Given the description of an element on the screen output the (x, y) to click on. 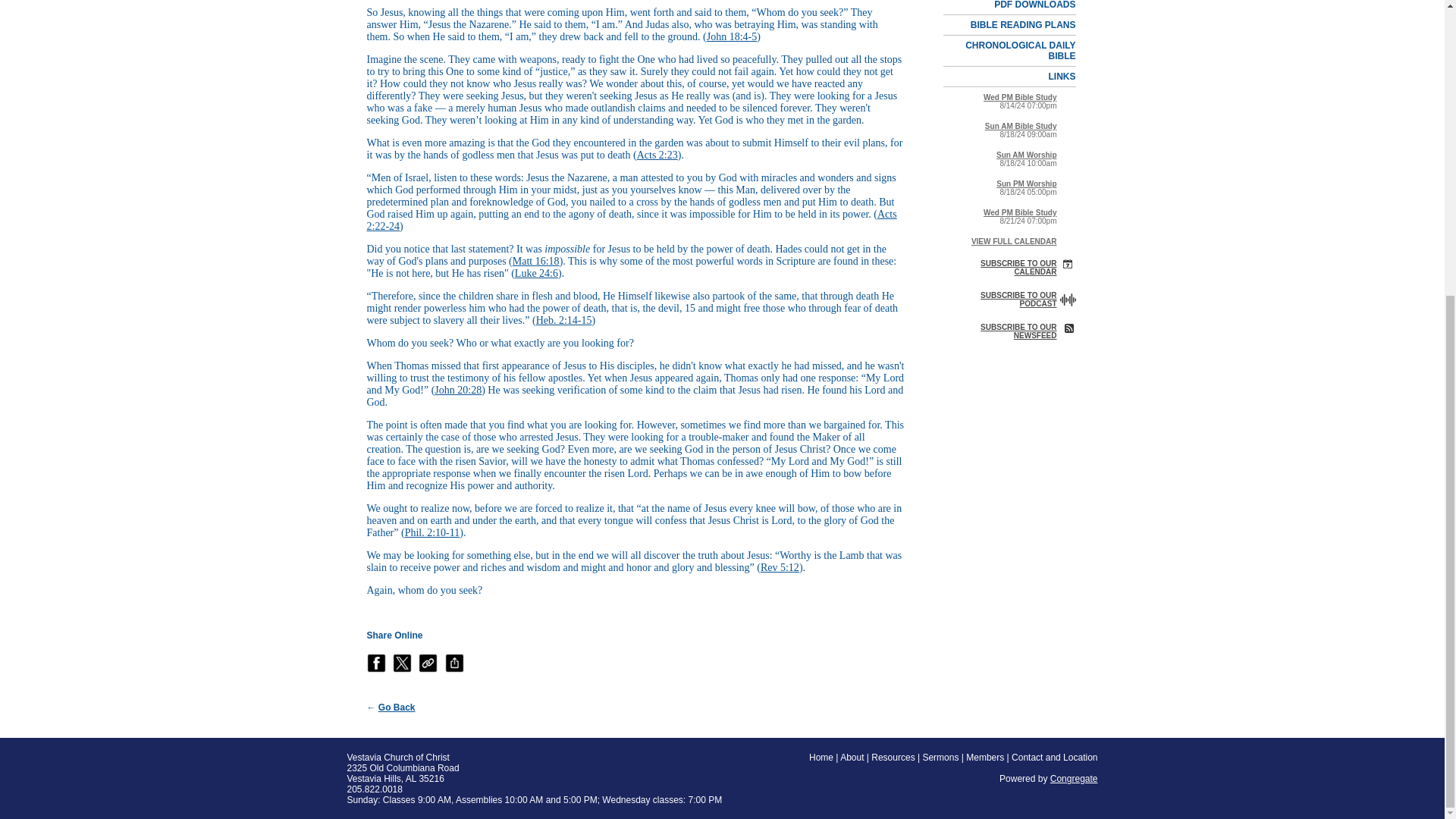
John 20:28 (457, 389)
Rev 5:12 (779, 567)
Luke 24:6 (536, 273)
Matt 16:18 (535, 260)
John 18:4-5 (731, 36)
Acts 2:22-24 (631, 219)
Facebook (375, 662)
Copy (428, 662)
Twitter (402, 662)
Phil. 2:10-11 (432, 532)
